Given the description of an element on the screen output the (x, y) to click on. 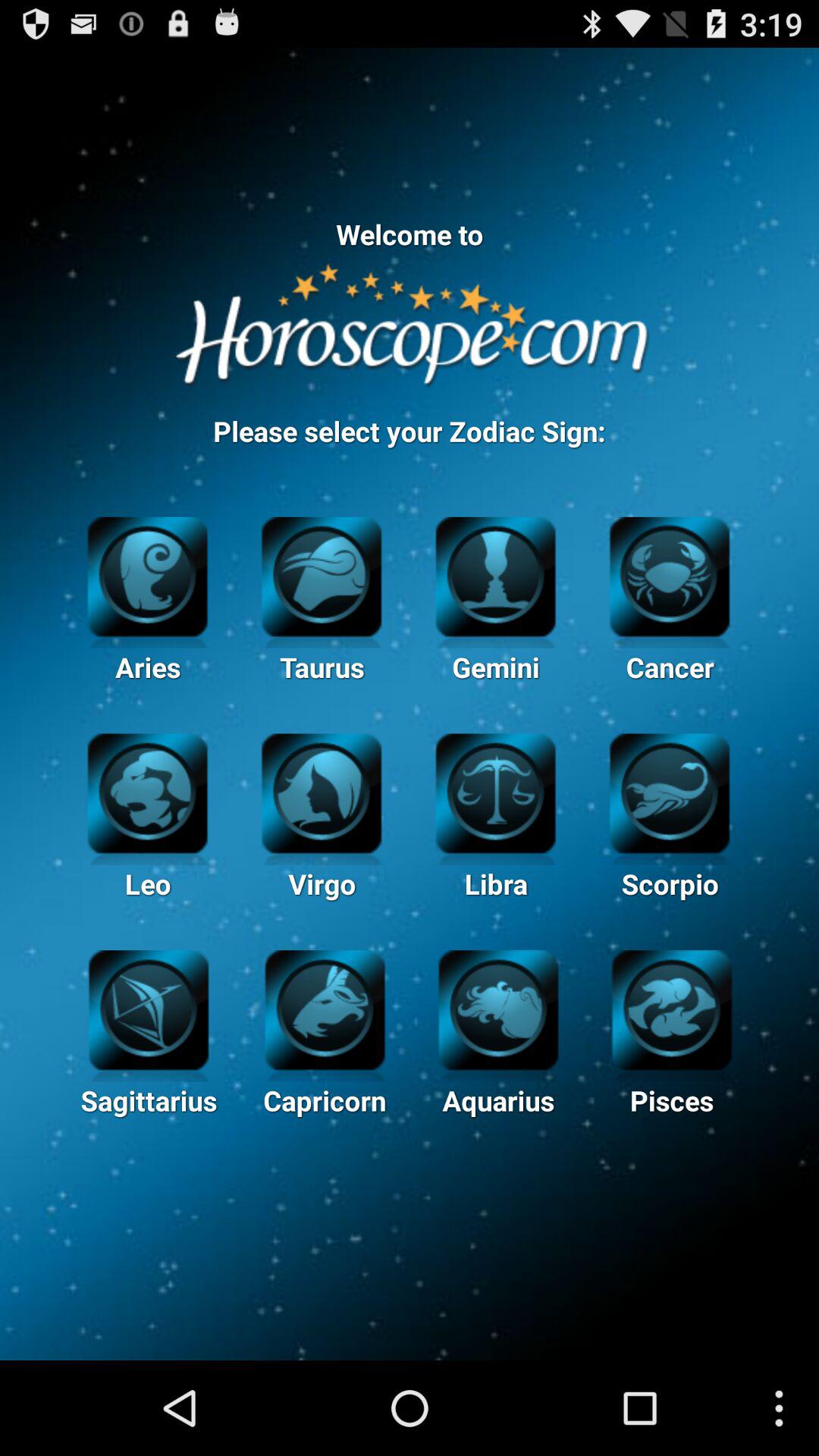
click to select (148, 1007)
